Given the description of an element on the screen output the (x, y) to click on. 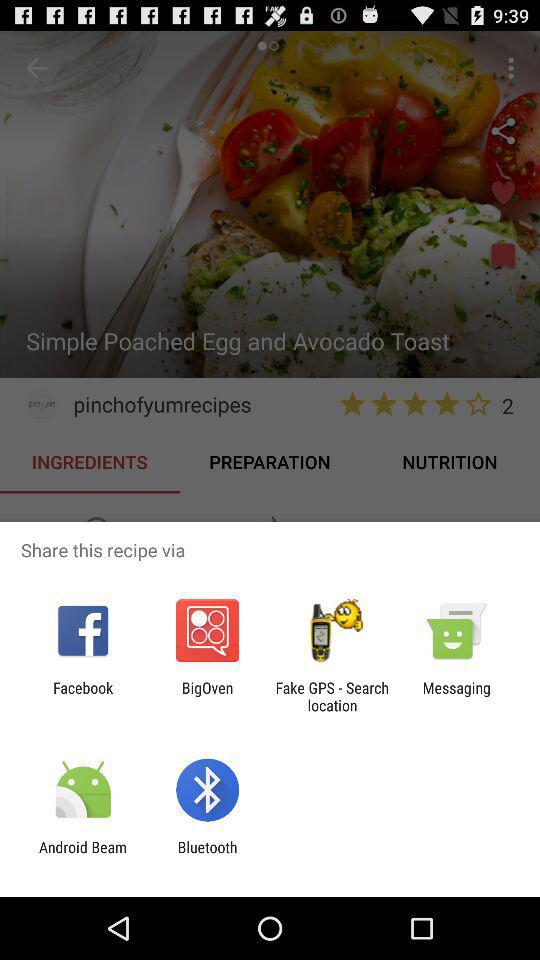
press facebook item (83, 696)
